Given the description of an element on the screen output the (x, y) to click on. 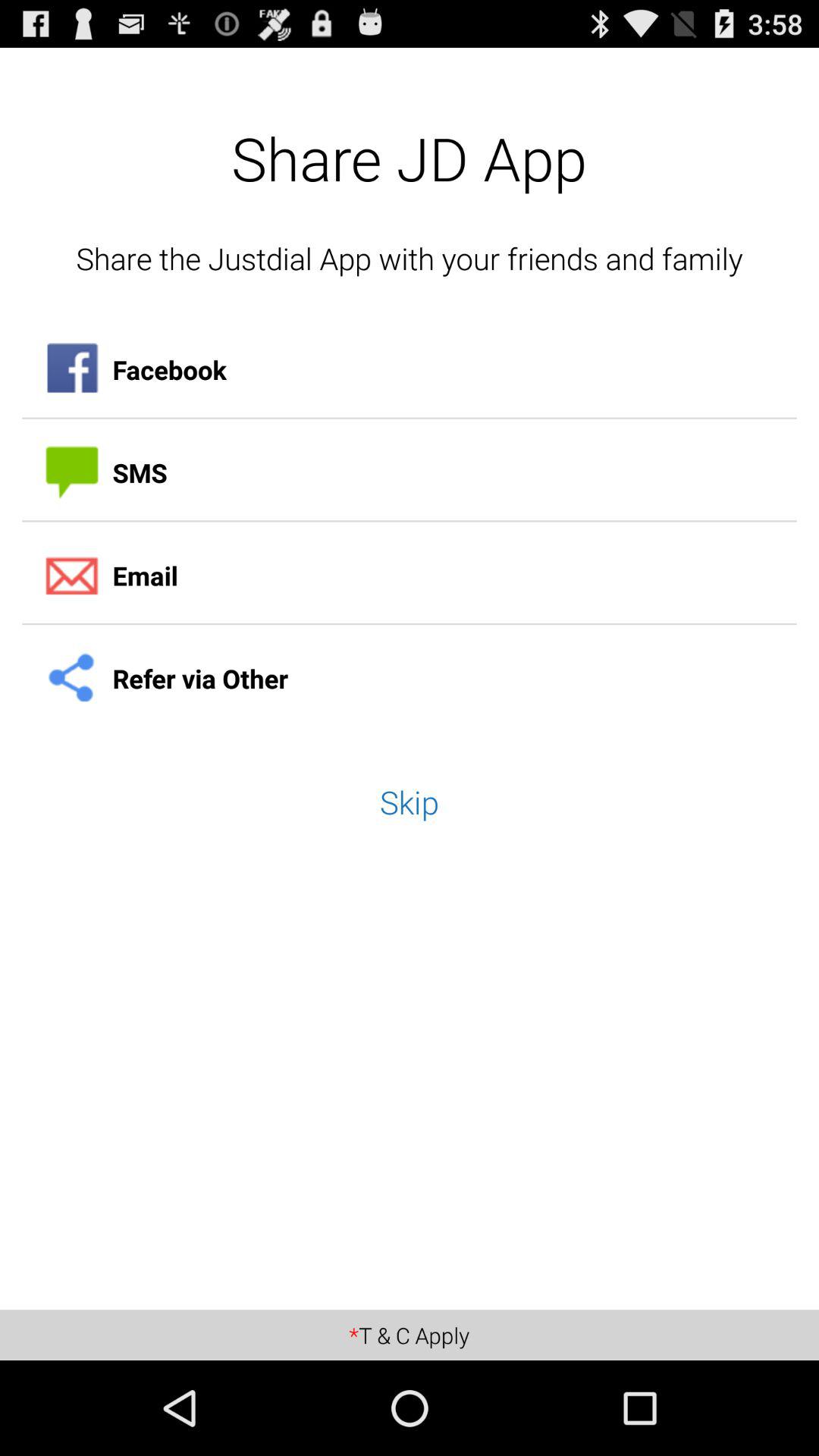
jump to sms icon (409, 472)
